Given the description of an element on the screen output the (x, y) to click on. 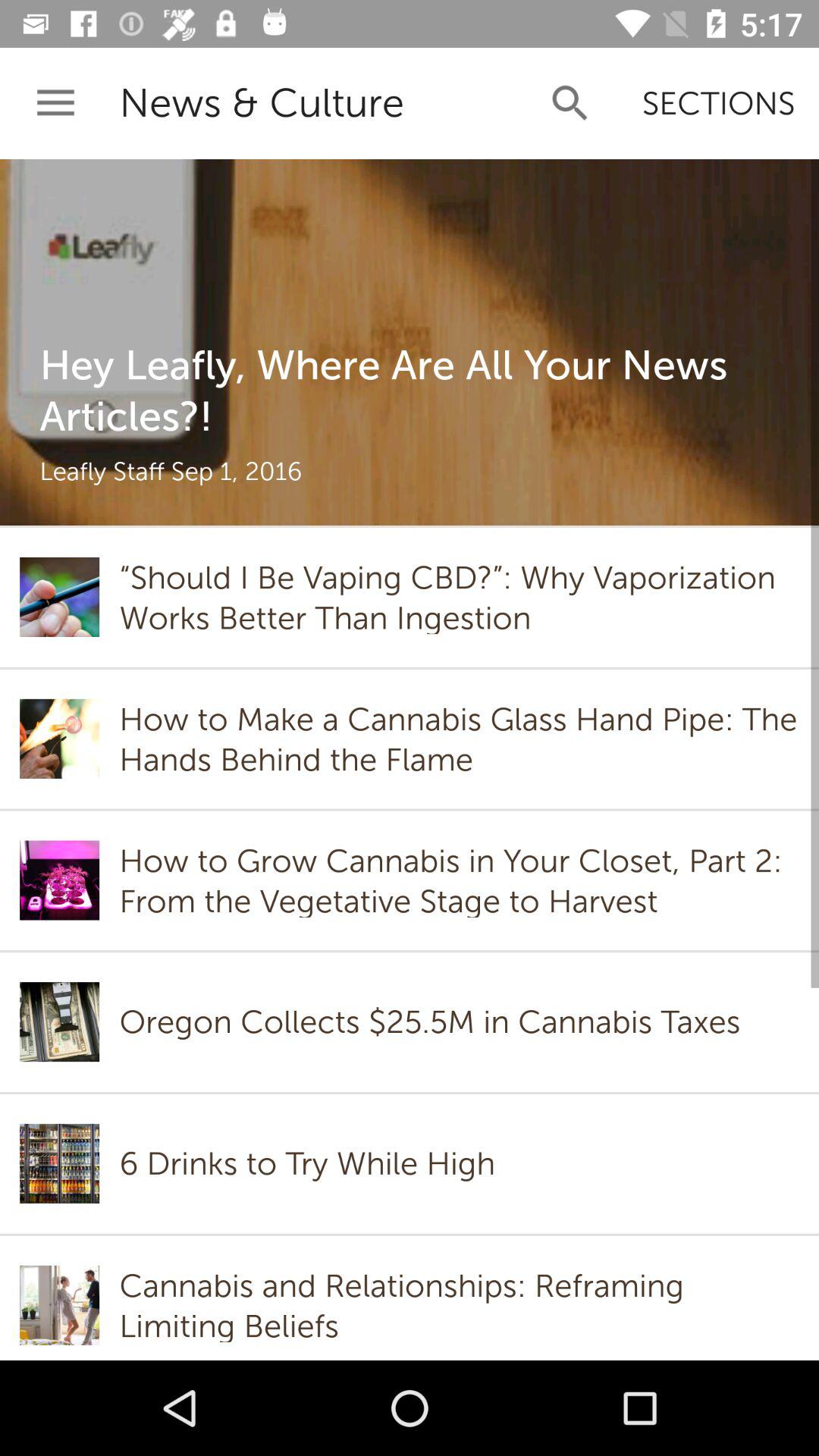
select the item to the right of the news & culture app (570, 103)
